Given the description of an element on the screen output the (x, y) to click on. 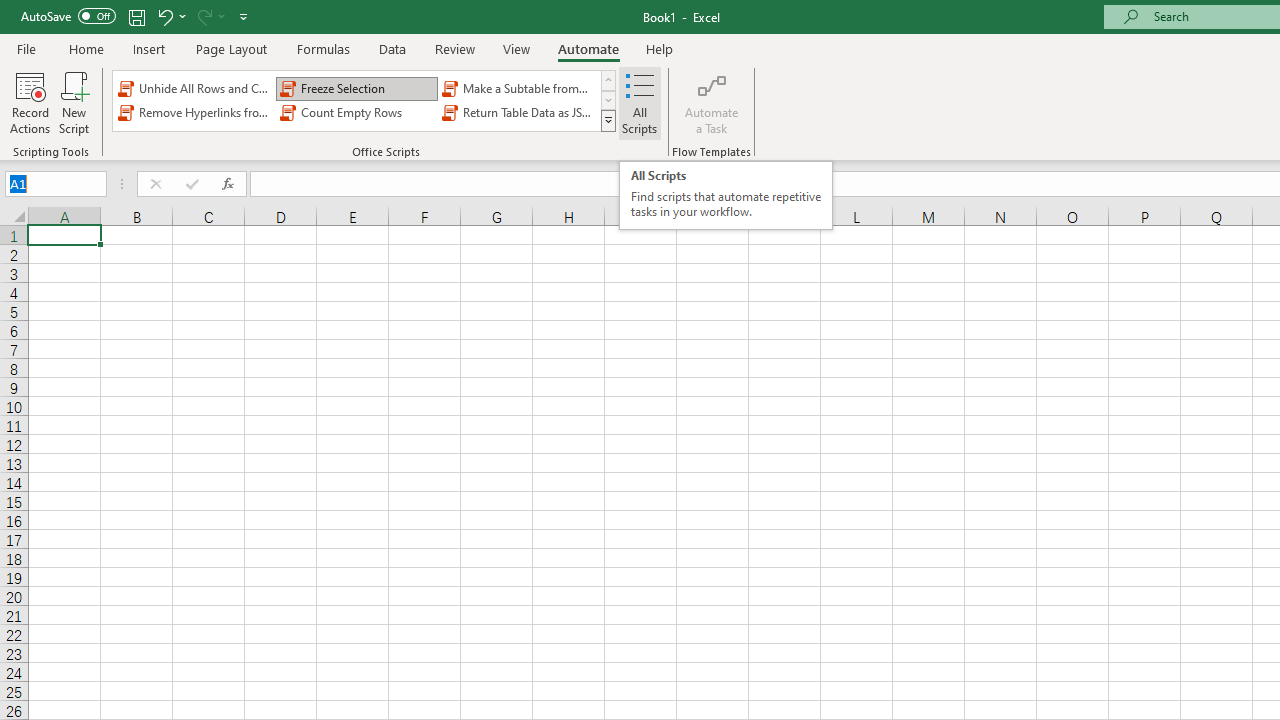
Remove Hyperlinks from Sheet (194, 112)
Unhide All Rows and Columns (194, 88)
Review (454, 48)
New Script (73, 102)
File Tab (26, 48)
More Options (222, 15)
Formulas (323, 48)
Save (136, 15)
Automate a Task (712, 102)
All Scripts (639, 102)
Name Box (46, 183)
System (10, 11)
Make a Subtable from a Selection (518, 88)
Office Scripts (608, 120)
View (517, 48)
